Given the description of an element on the screen output the (x, y) to click on. 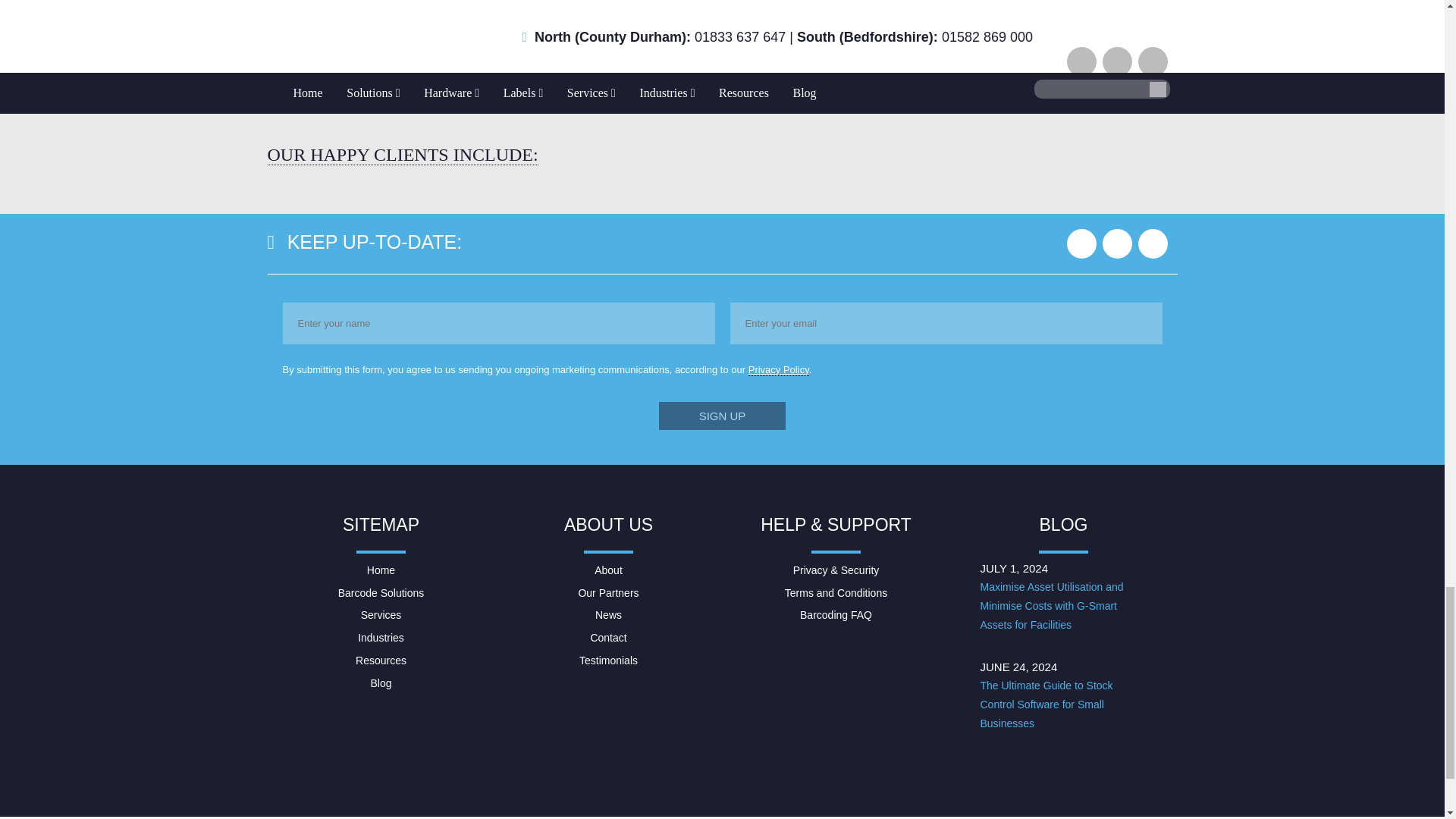
sign up (722, 415)
